Given the description of an element on the screen output the (x, y) to click on. 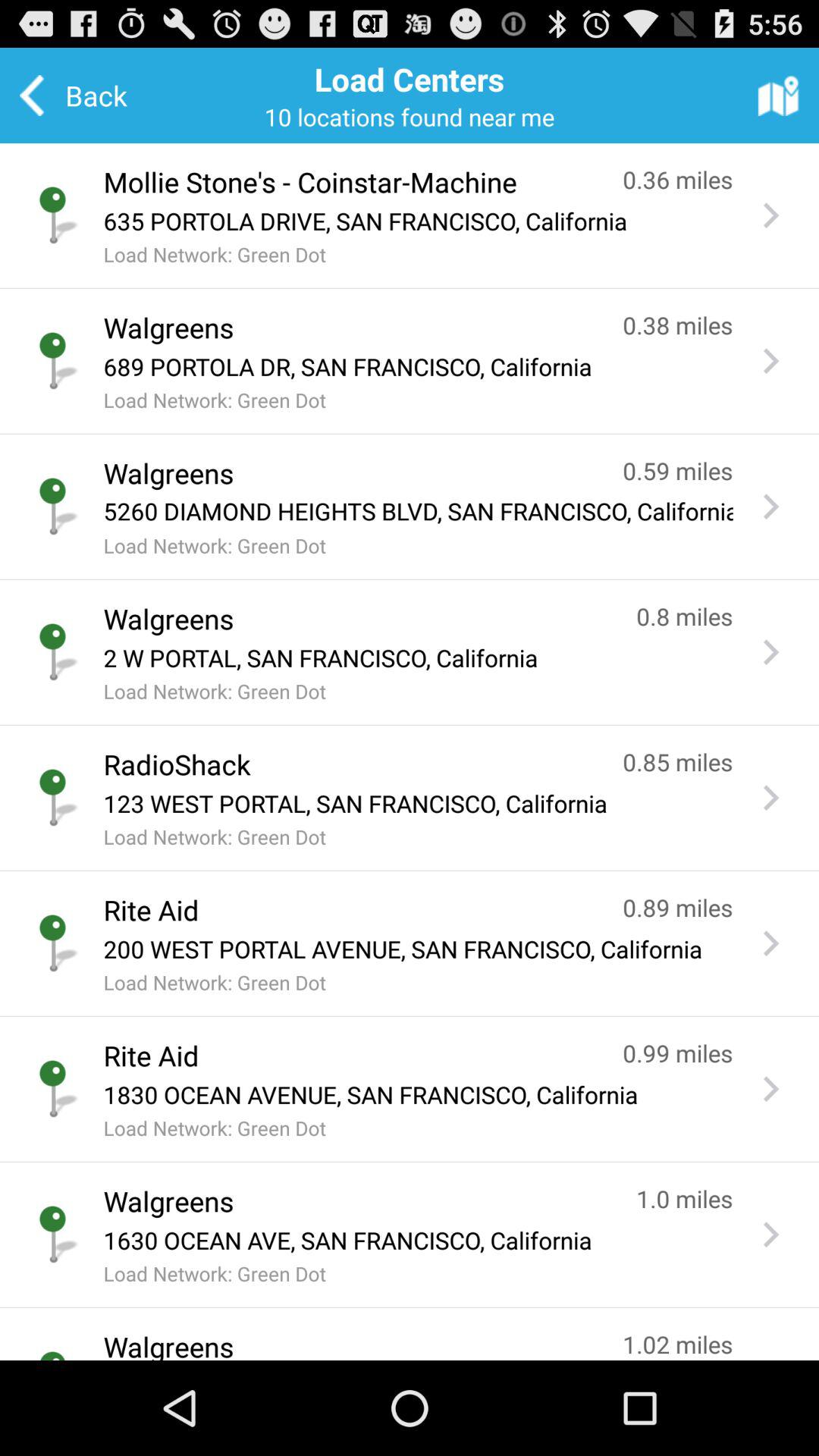
click radioshack icon (347, 764)
